Given the description of an element on the screen output the (x, y) to click on. 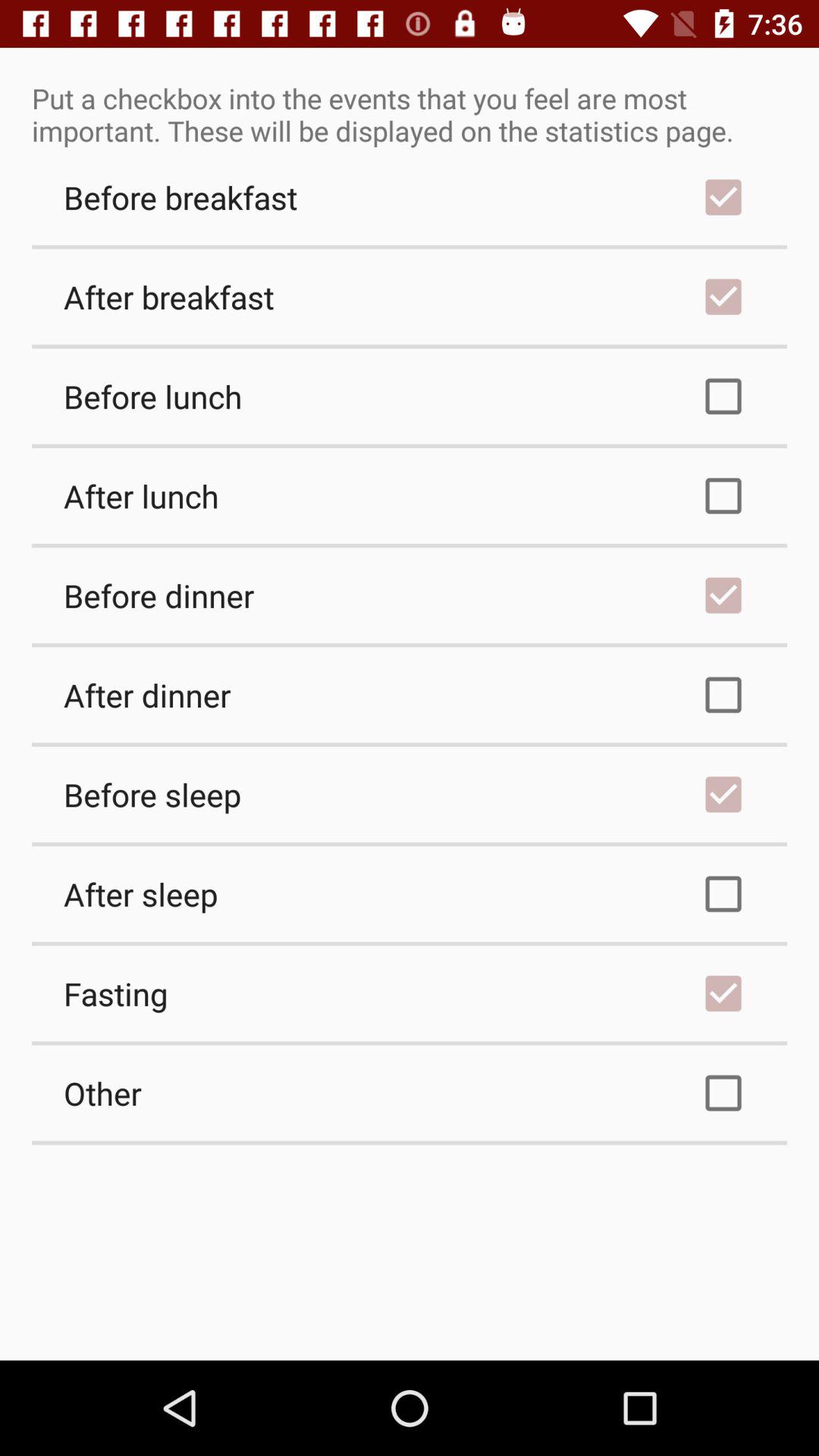
choose before lunch (409, 396)
